Given the description of an element on the screen output the (x, y) to click on. 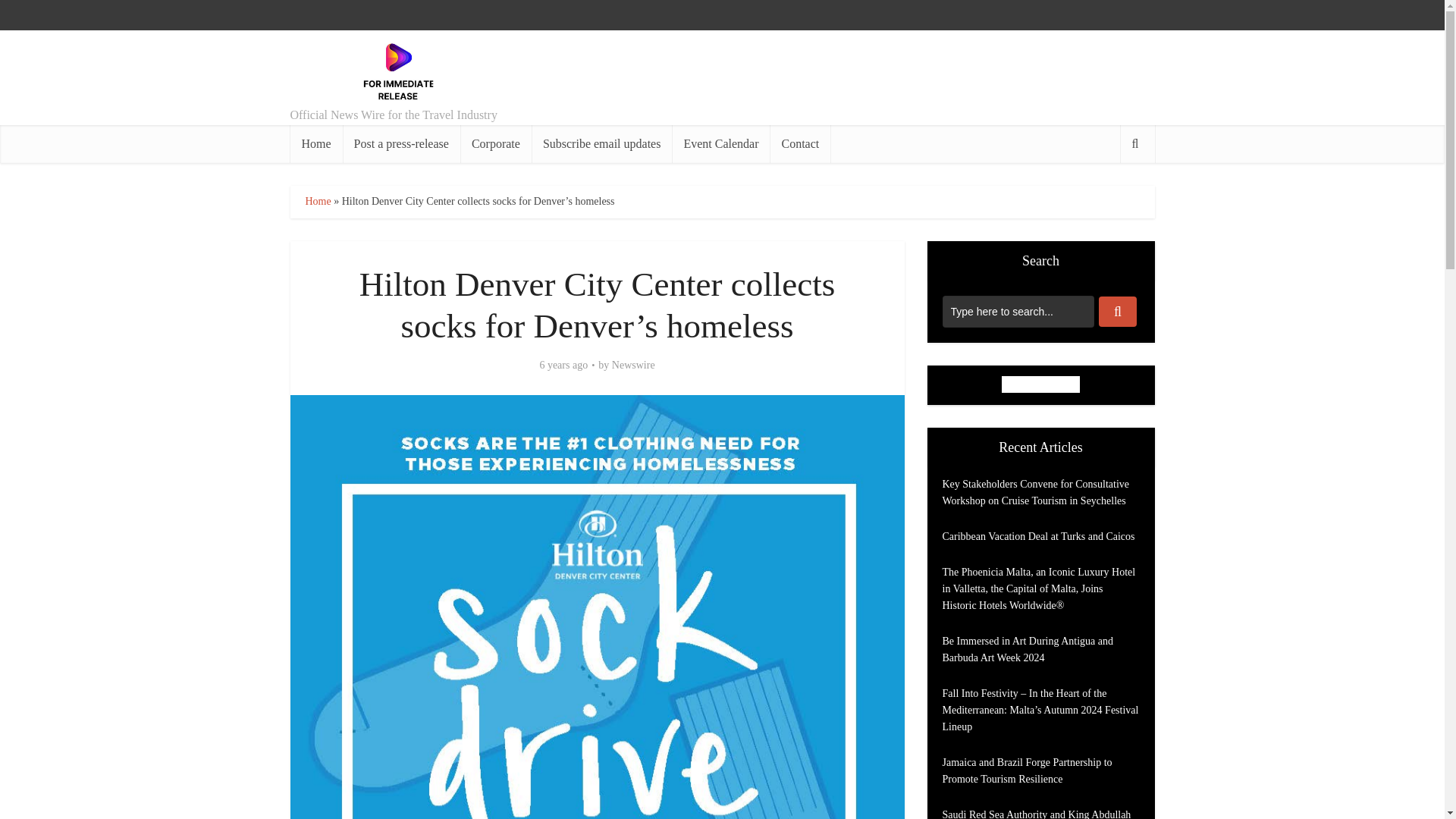
Event Calendar (720, 143)
Subscribe email updates (601, 143)
Type here to search... (1017, 311)
Post a press-release (401, 143)
Corporate (495, 143)
Newswire (633, 365)
Type here to search... (1017, 311)
Home (315, 143)
Contact (799, 143)
Home (317, 201)
